Given the description of an element on the screen output the (x, y) to click on. 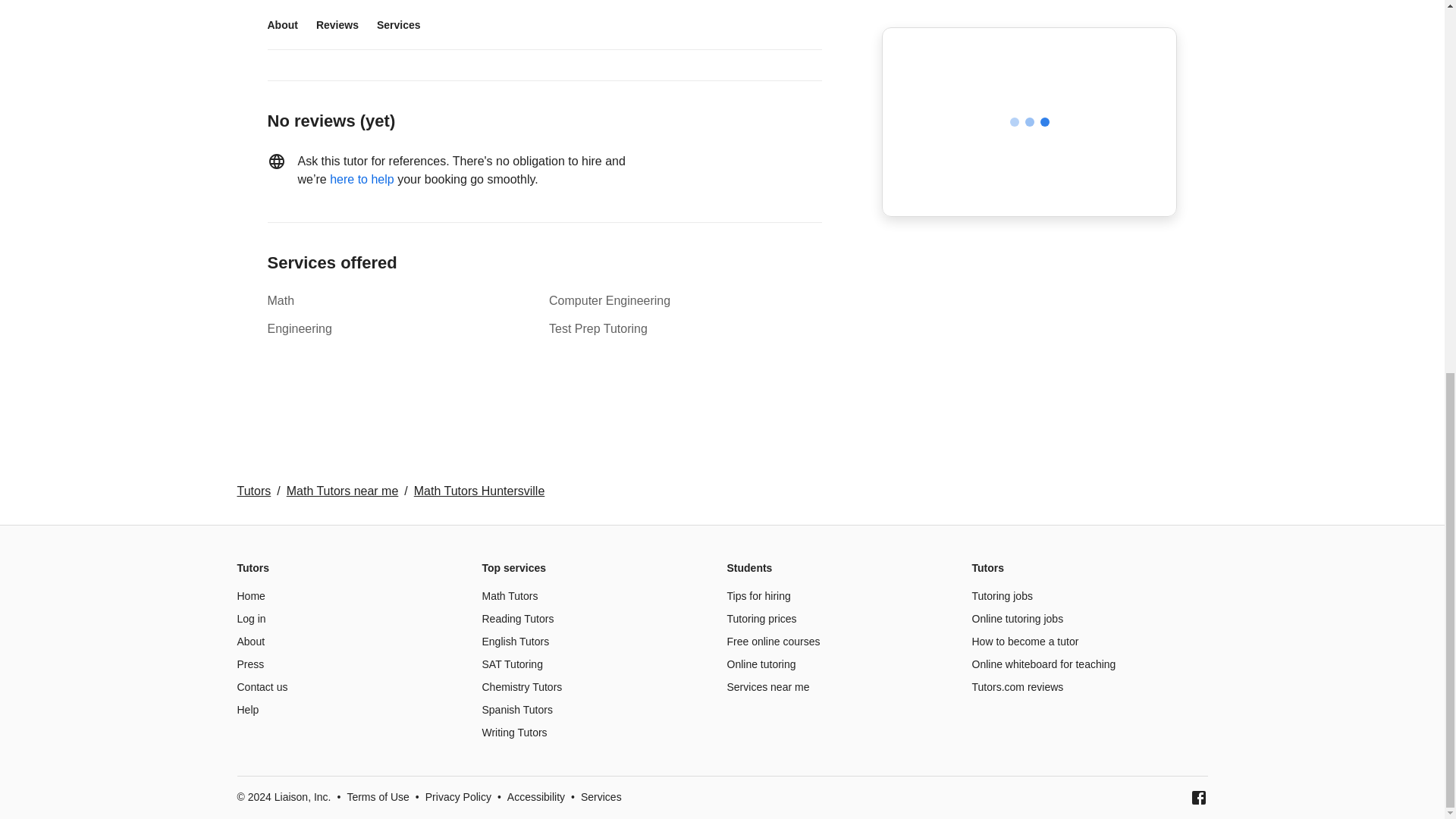
SAT Tutoring (512, 664)
About (249, 641)
Math Tutors (509, 595)
Writing Tutors (514, 732)
Home (249, 595)
Press (249, 664)
Log in (249, 618)
Math Tutors near me (342, 490)
Reading Tutors (517, 618)
Spanish Tutors (517, 709)
